Given the description of an element on the screen output the (x, y) to click on. 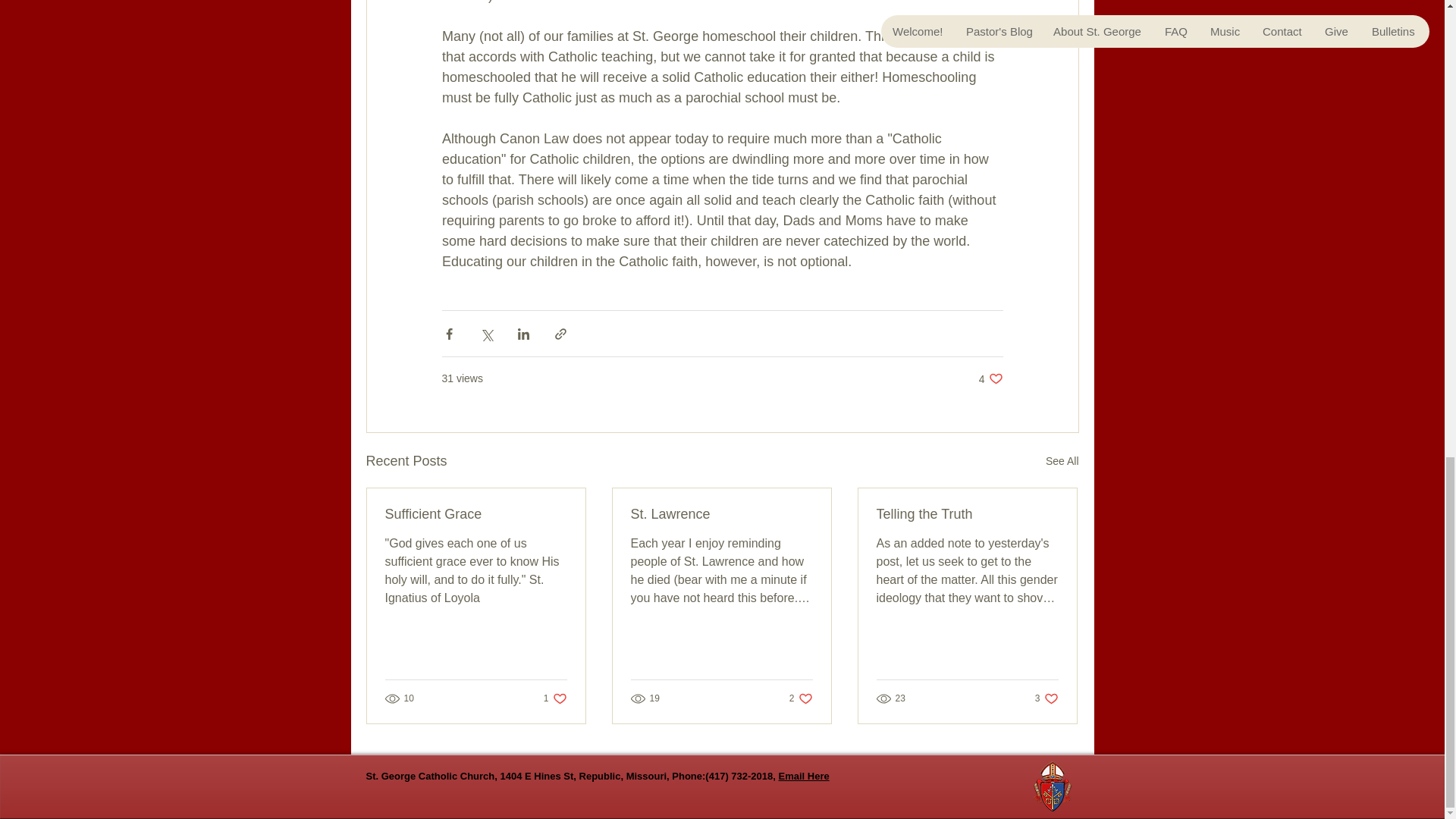
St. Lawrence (721, 514)
See All (1046, 698)
Telling the Truth (1061, 461)
Email Here (555, 698)
Sufficient Grace (967, 514)
